Given the description of an element on the screen output the (x, y) to click on. 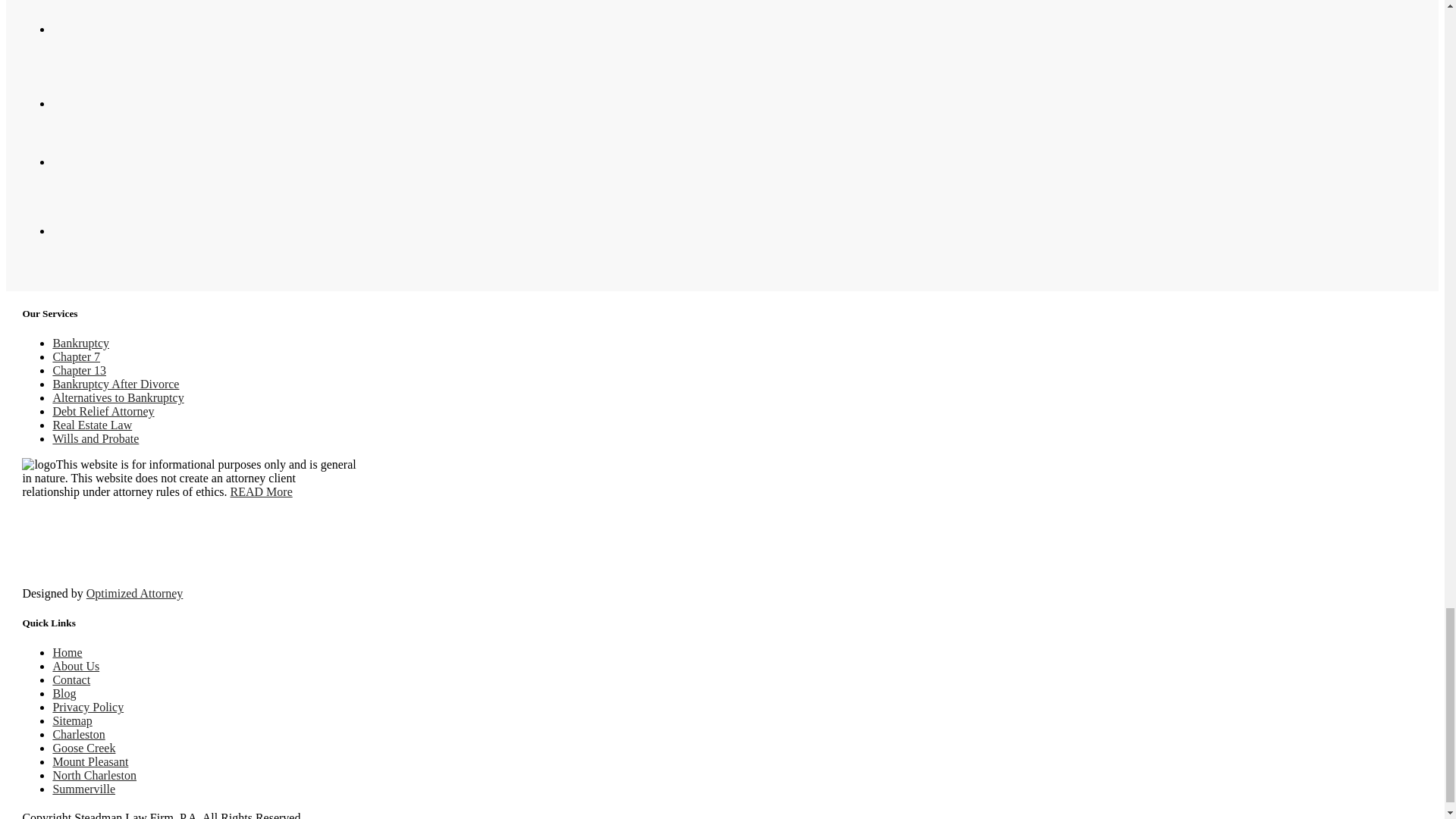
Real Estate Law (92, 424)
Alternatives to Bankruptcy (117, 397)
Chapter 13 (79, 369)
Bankruptcy After Divorce (115, 383)
Chapter 7 (76, 356)
Bankruptcy (80, 342)
Debt Relief Attorney (103, 410)
